Given the description of an element on the screen output the (x, y) to click on. 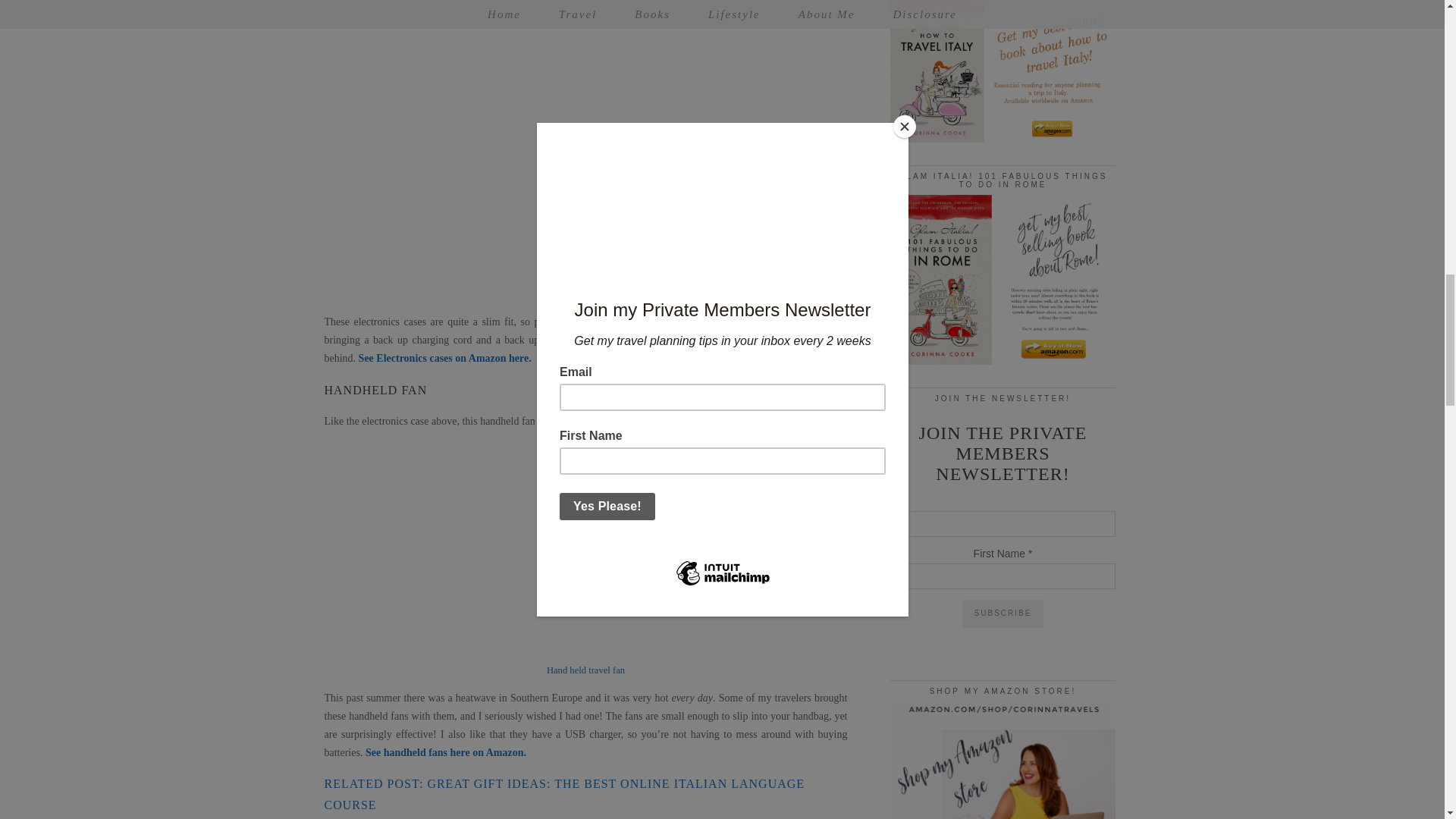
See Electronics cases on Amazon here. (444, 357)
Electronics Case (585, 294)
Subscribe (1002, 613)
Hand held travel fan (585, 670)
